Given the description of an element on the screen output the (x, y) to click on. 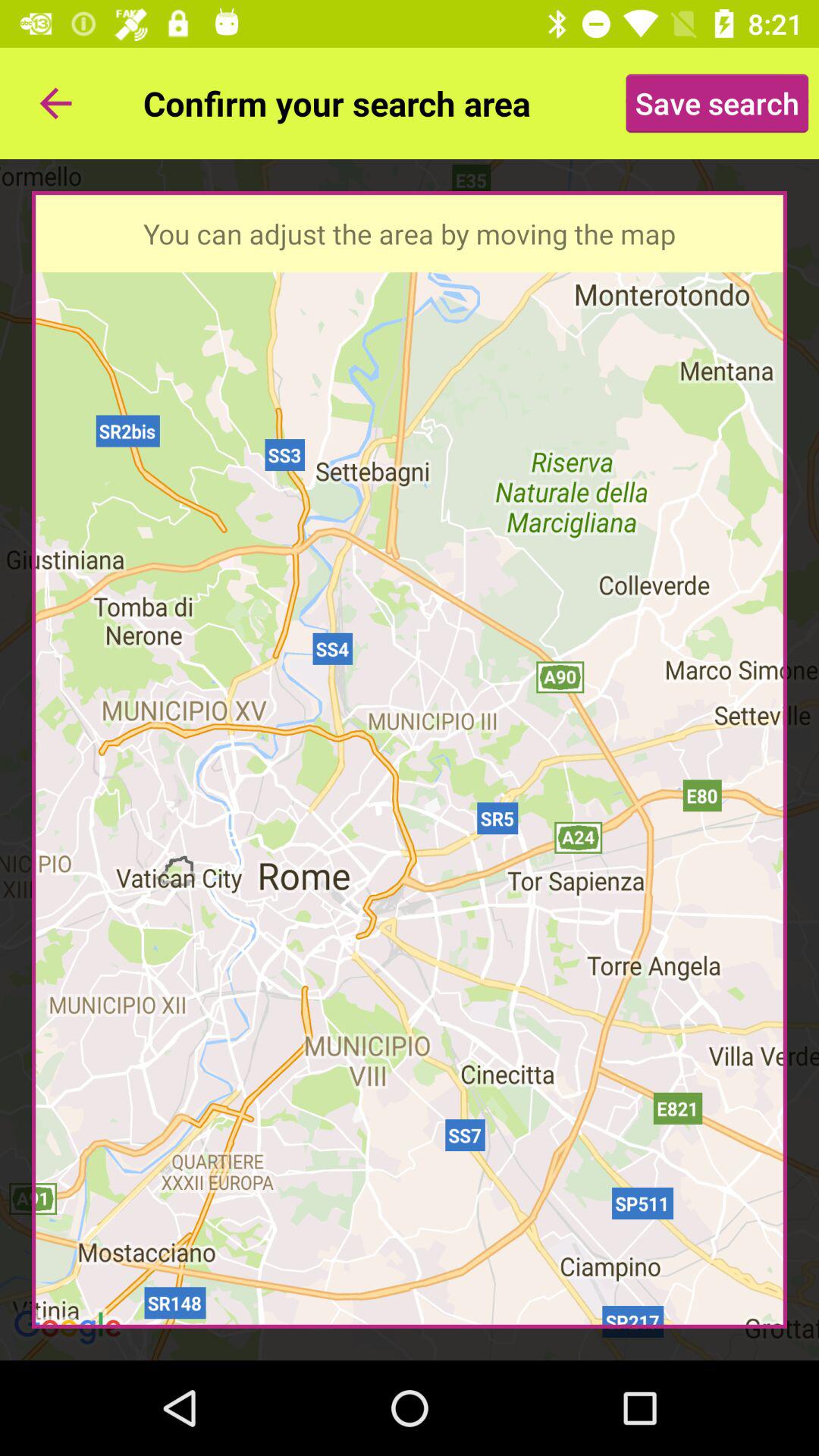
launch item at the center (409, 759)
